Given the description of an element on the screen output the (x, y) to click on. 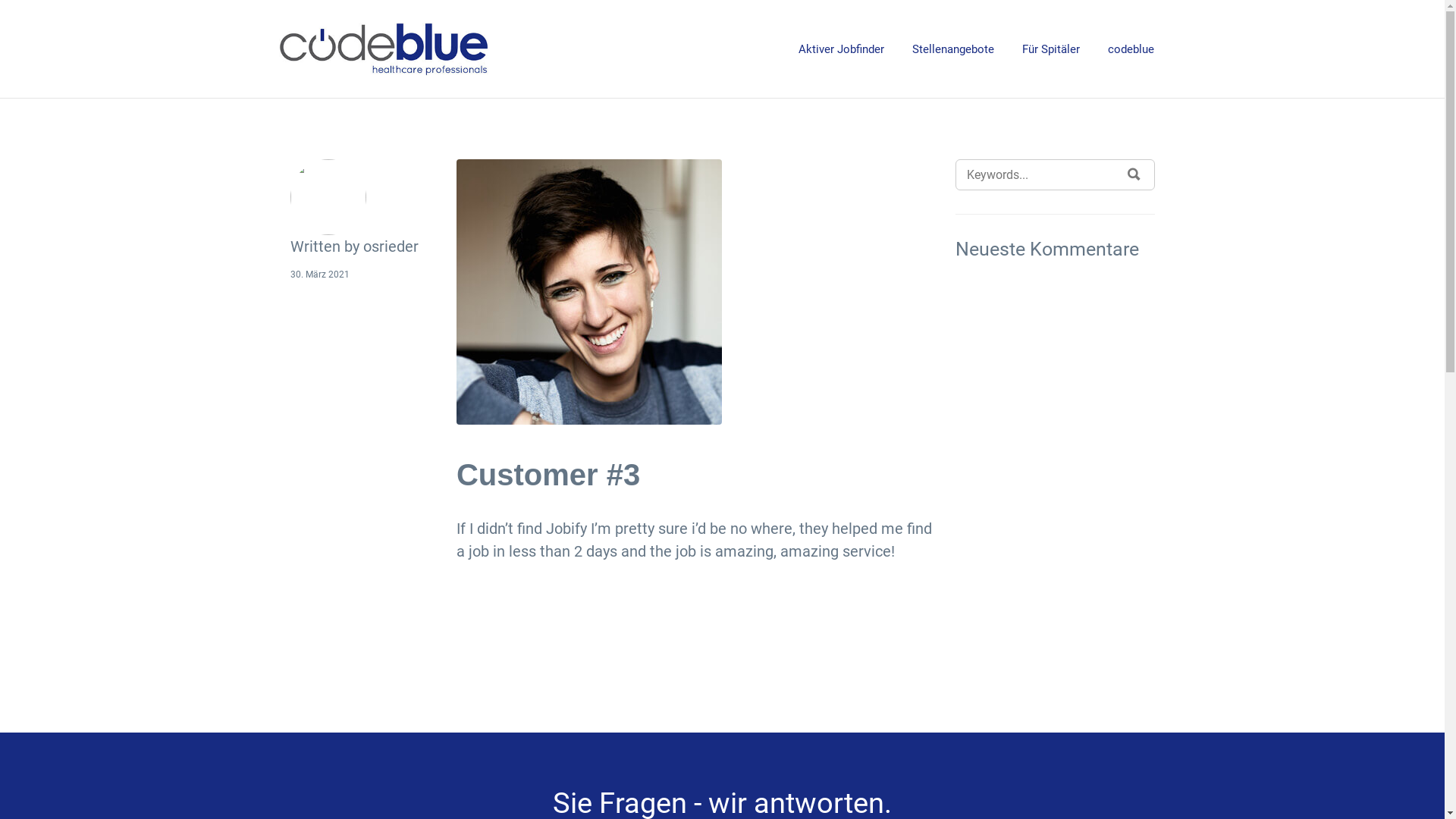
SEARCH Element type: text (1133, 174)
CODEBLUE Element type: text (449, 48)
Stellenangebote Element type: text (952, 49)
codeblue Element type: text (1130, 49)
osrieder Element type: text (389, 246)
Aktiver Jobfinder Element type: text (840, 49)
